Given the description of an element on the screen output the (x, y) to click on. 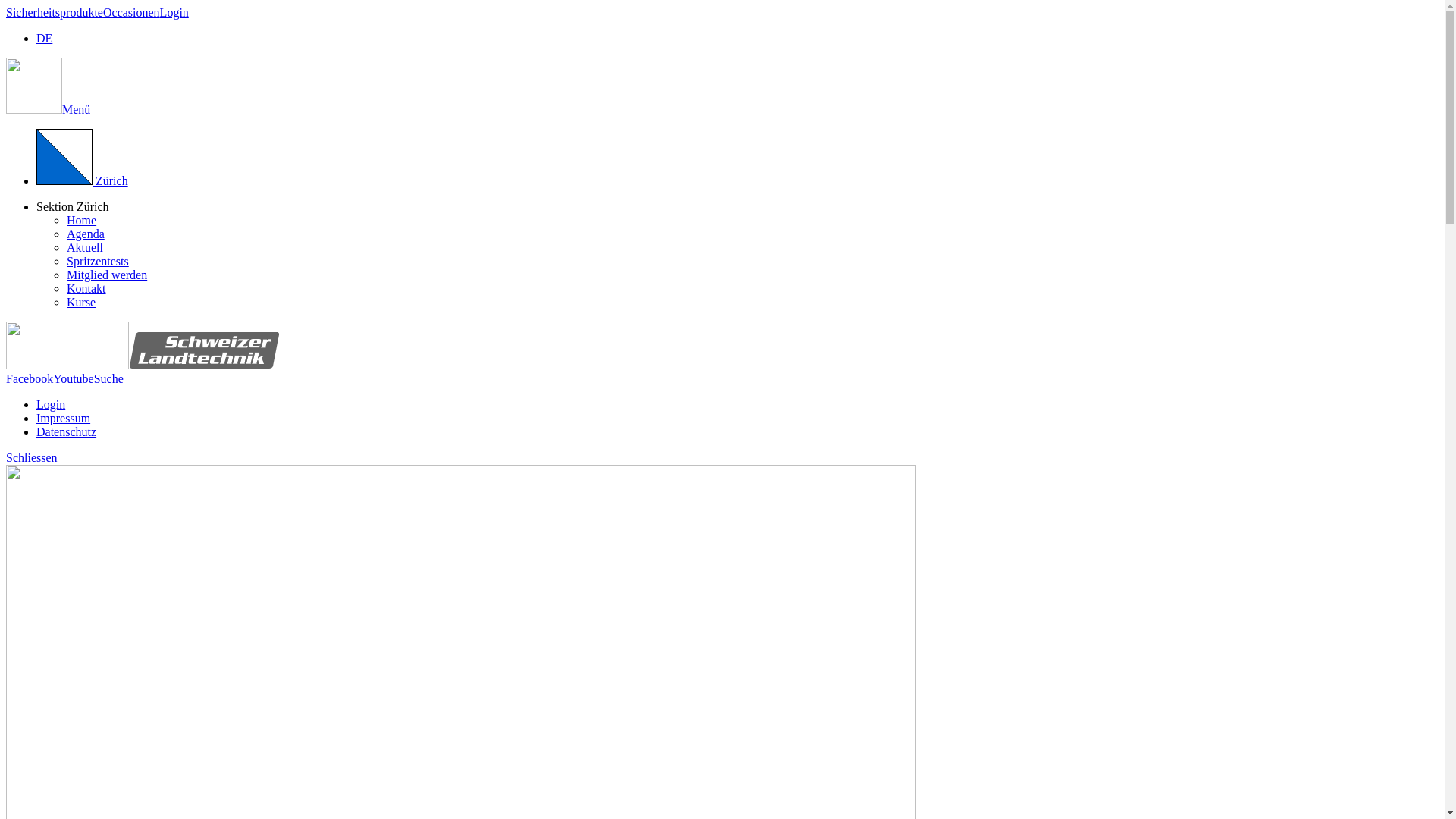
Suche Element type: text (108, 378)
Occasionen Element type: text (131, 12)
Agenda Element type: text (85, 233)
Home Element type: text (81, 219)
Login Element type: text (174, 12)
Kurse Element type: text (80, 301)
Sicherheitsprodukte Element type: text (54, 12)
Youtube Element type: text (73, 378)
Schliessen Element type: text (31, 457)
Login Element type: text (50, 404)
DE Element type: text (44, 37)
Datenschutz Element type: text (66, 431)
Mitglied werden Element type: text (106, 274)
Aktuell Element type: text (84, 247)
Facebook Element type: text (29, 378)
Spritzentests Element type: text (97, 260)
Impressum Element type: text (63, 417)
Kontakt Element type: text (86, 288)
